Given the description of an element on the screen output the (x, y) to click on. 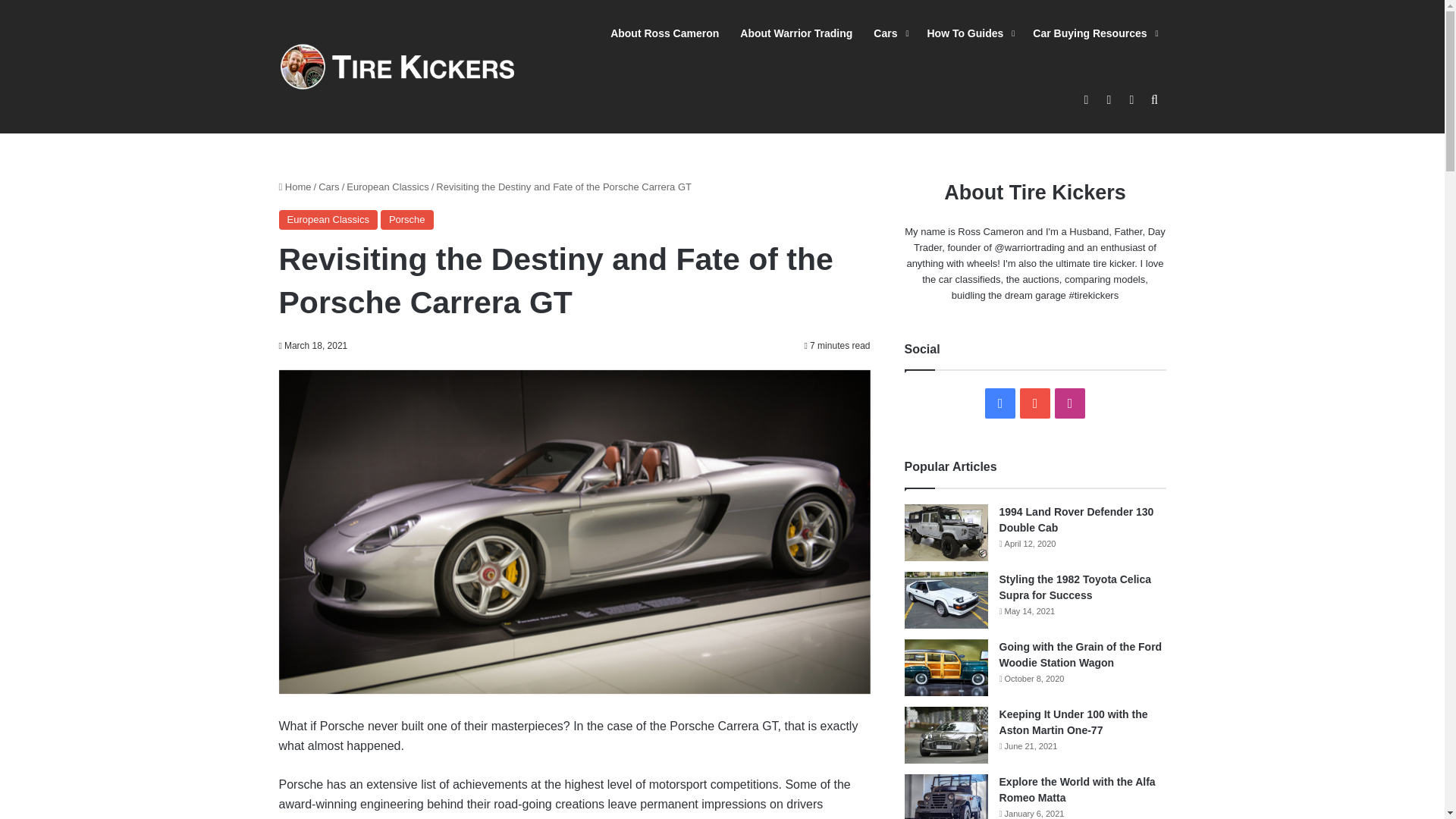
Tire Kickers by Ross Cameron (397, 65)
Cars (328, 186)
Porsche (406, 219)
Advertisement (721, 117)
Car Buying Resources (1094, 33)
How To Guides (968, 33)
Home (295, 186)
About Ross Cameron (664, 33)
European Classics (387, 186)
European Classics (328, 219)
